Given the description of an element on the screen output the (x, y) to click on. 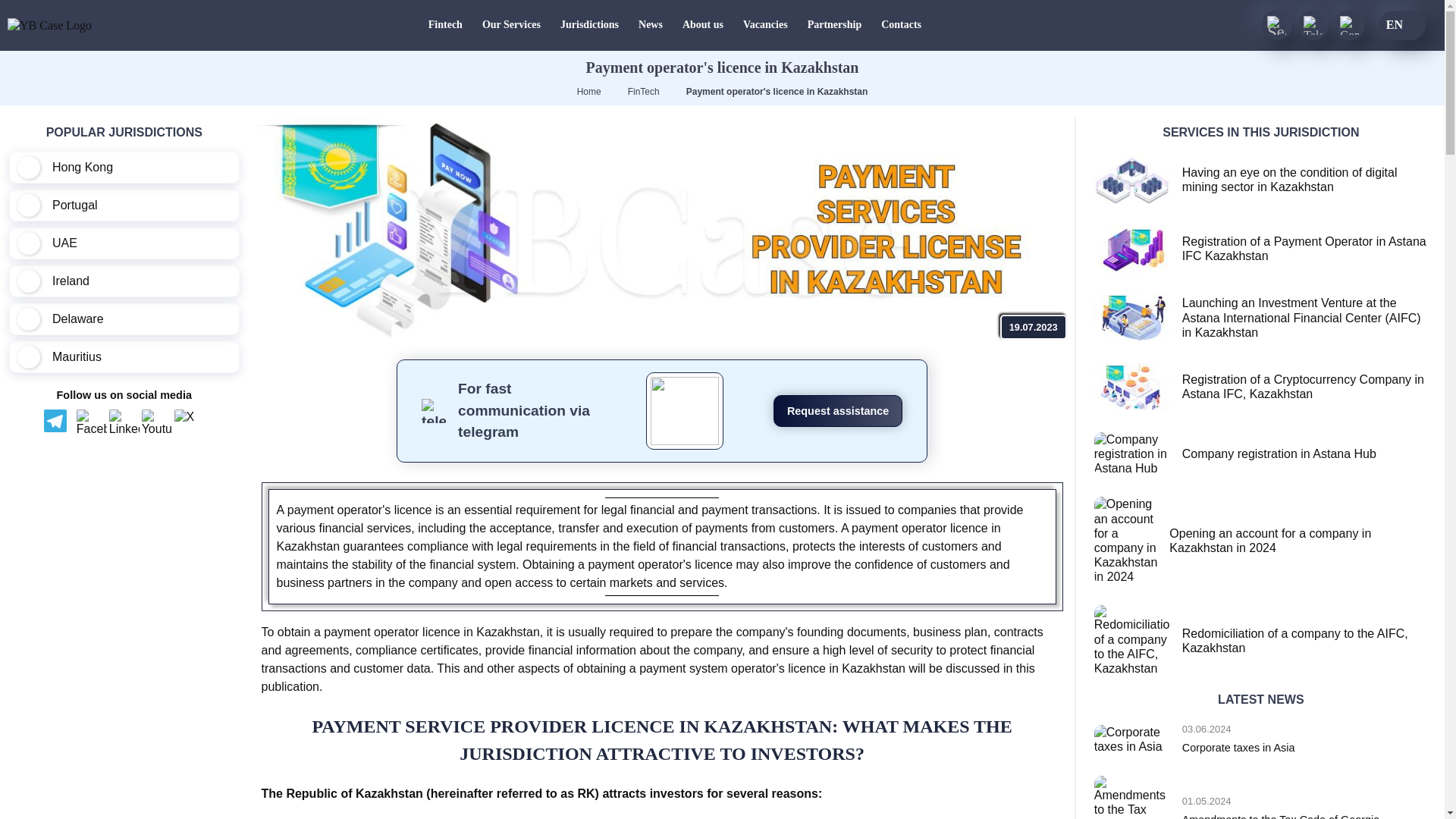
About us (702, 25)
EN (1401, 24)
For fast communication via telegram (526, 410)
Partnership (834, 25)
Our Services (511, 25)
FinTech (643, 91)
Fintech (445, 25)
Contacts (900, 25)
Ireland (124, 281)
UAE (124, 243)
Home (588, 91)
Request assistance (837, 410)
Hong Kong (124, 167)
Delaware (124, 318)
